Given the description of an element on the screen output the (x, y) to click on. 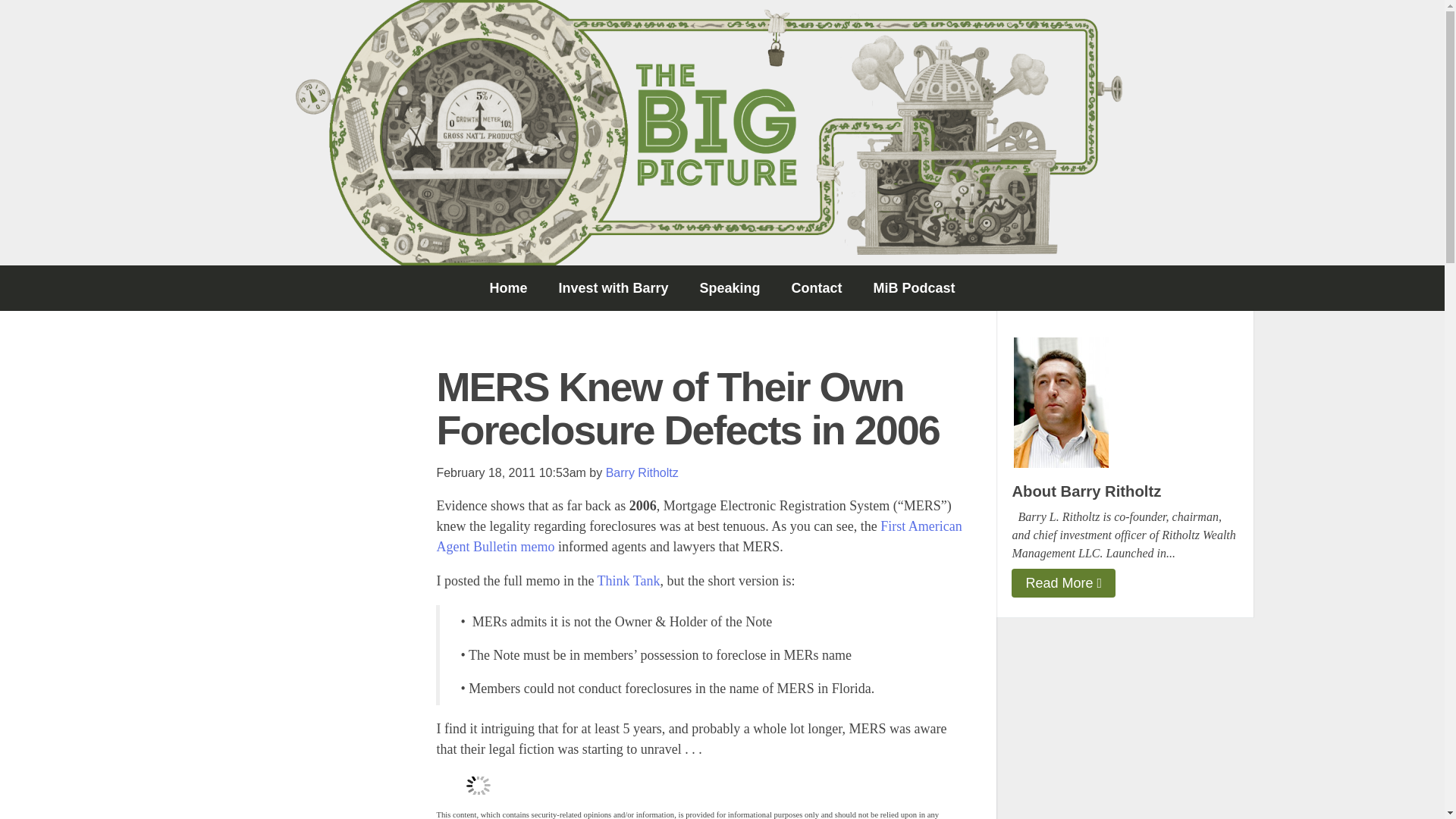
Think Tank (628, 580)
Contact (816, 288)
Posts by Barry Ritholtz (641, 472)
Barry Ritholtz (641, 472)
Read More (1063, 582)
First American Agent Bulletin memo (697, 536)
Invest with Barry (612, 288)
Speaking (729, 288)
Home (508, 288)
MiB Podcast (914, 288)
